Given the description of an element on the screen output the (x, y) to click on. 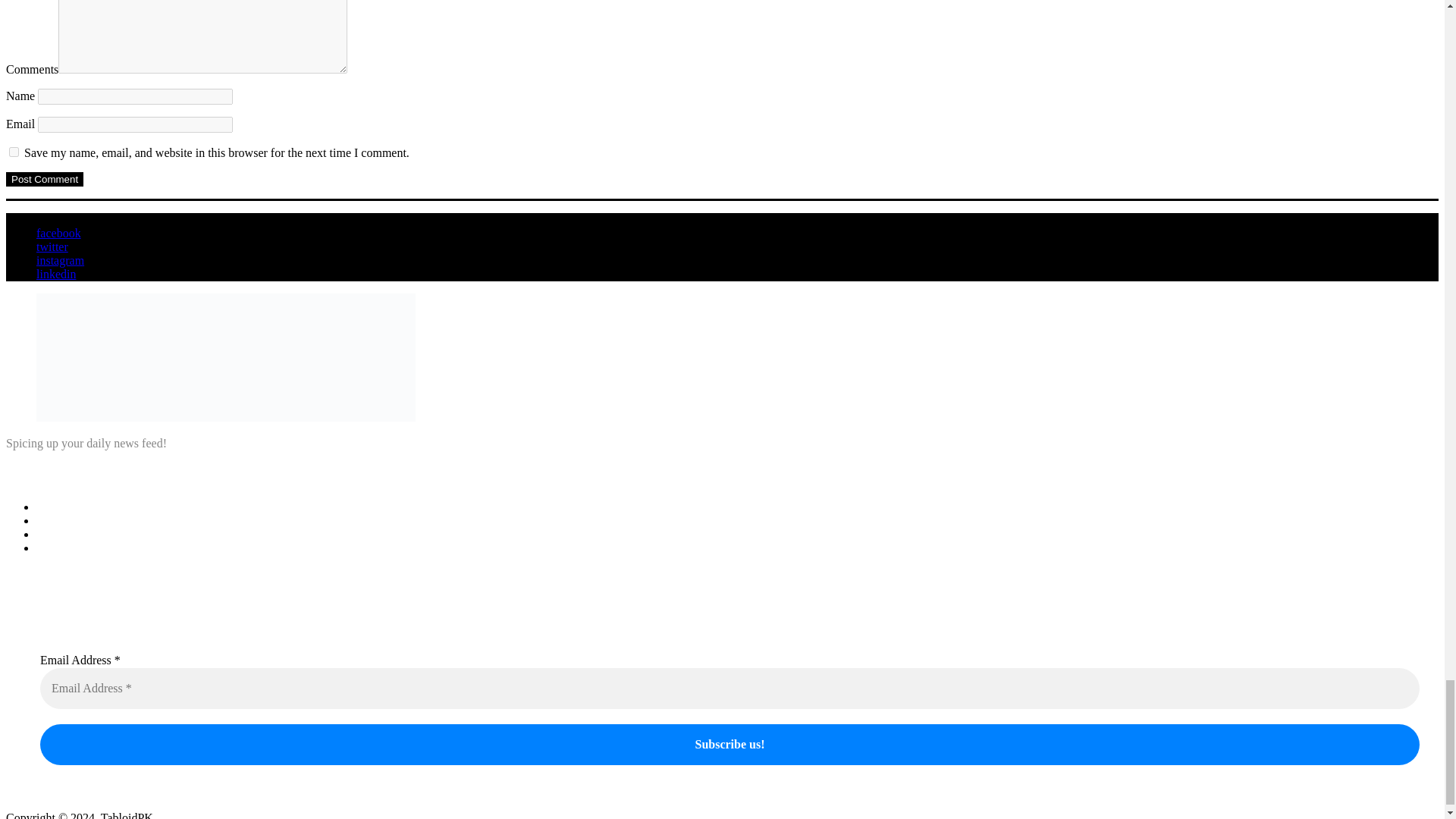
Subscribe us! (729, 743)
yes (13, 152)
Post Comment (43, 178)
